Given the description of an element on the screen output the (x, y) to click on. 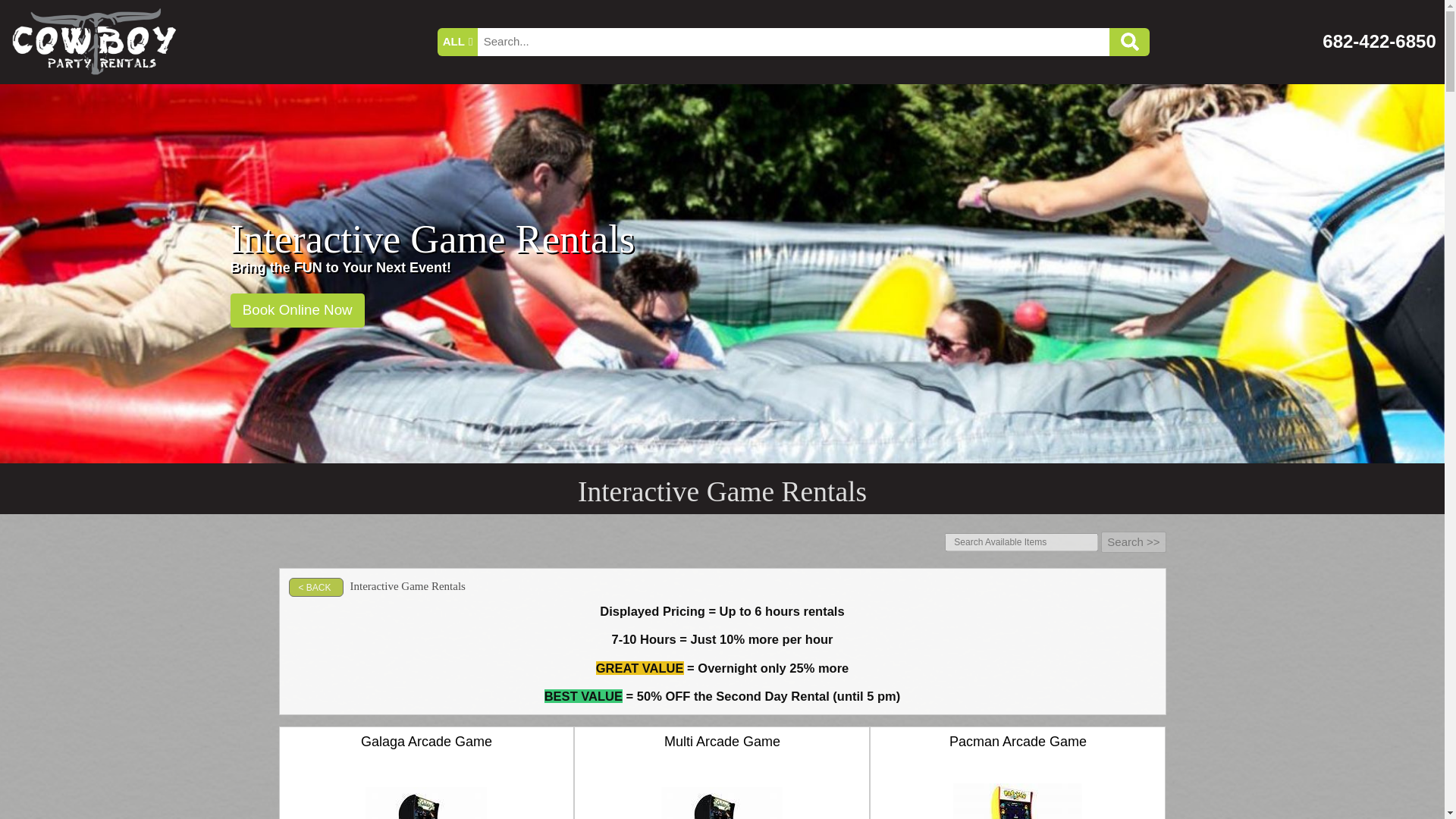
Multi Arcade Game (722, 803)
Cowboy Party Rentals (93, 41)
682-422-6850 (1378, 41)
Pacman Arcade Game (1017, 800)
Galaga Arcade Game  (425, 803)
Book Online Now (297, 310)
